Given the description of an element on the screen output the (x, y) to click on. 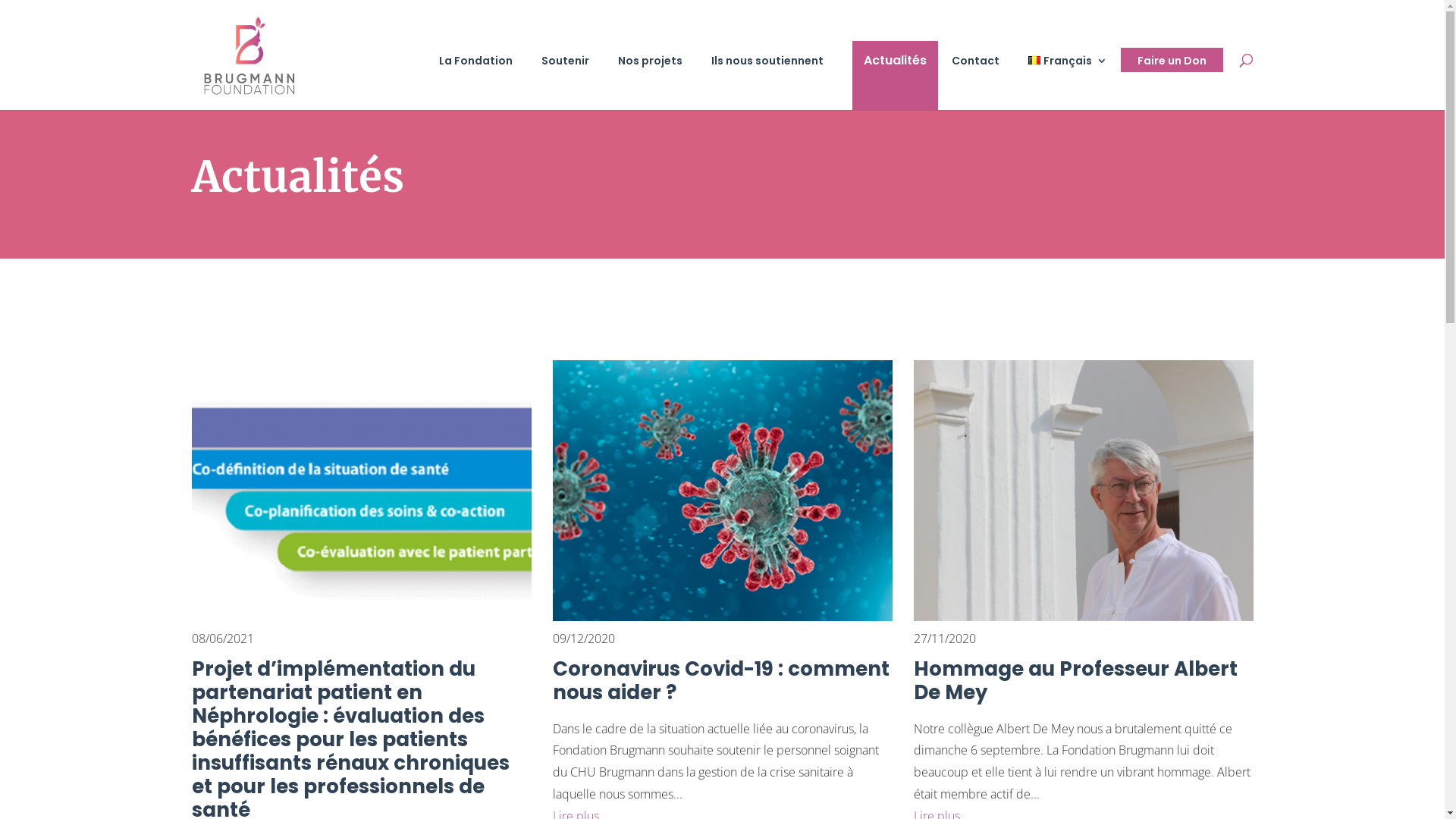
Contact Element type: text (982, 81)
Soutenir Element type: text (572, 81)
Nos projets Element type: text (657, 81)
Hommage au Professeur Albert De Mey Element type: text (1075, 680)
Faire un Don Element type: text (1168, 59)
Ils nous soutiennent Element type: text (774, 81)
La Fondation Element type: text (483, 81)
Coronavirus Covid-19 : comment nous aider ? Element type: text (720, 680)
